Given the description of an element on the screen output the (x, y) to click on. 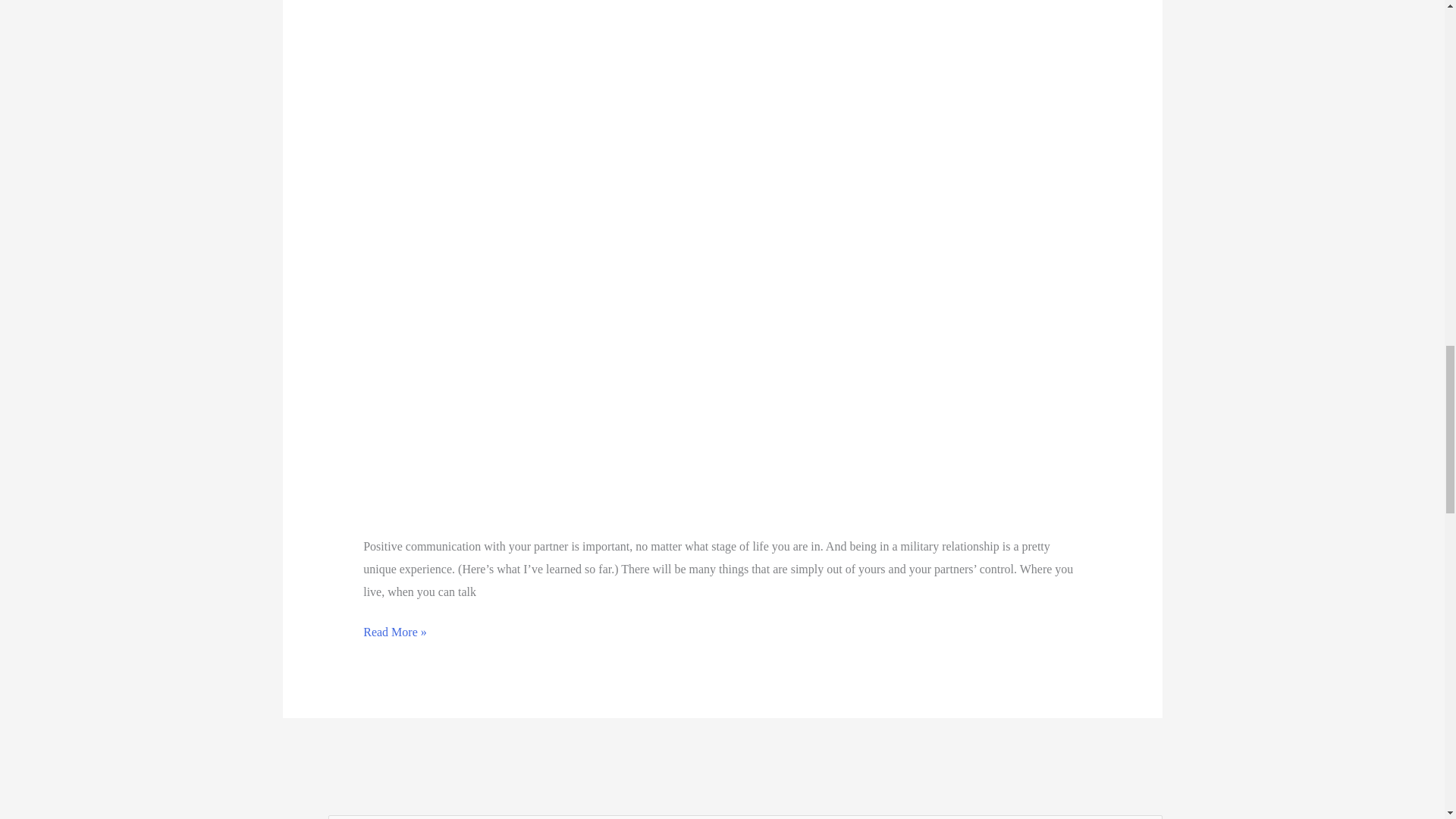
Search (1144, 816)
Search (1144, 816)
Search (1144, 816)
